Given the description of an element on the screen output the (x, y) to click on. 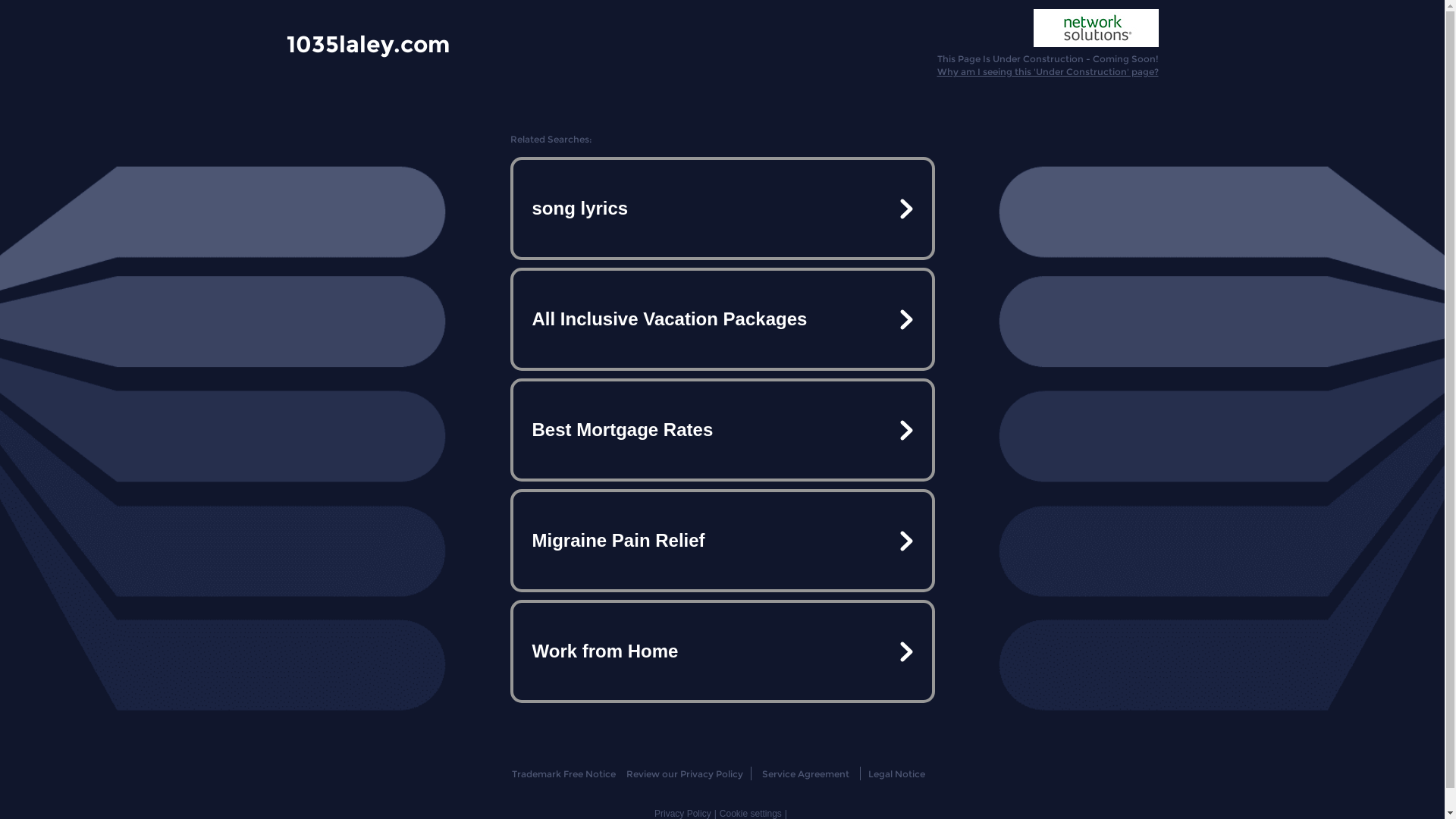
1035laley.com Element type: text (367, 43)
song lyrics Element type: text (721, 208)
Work from Home Element type: text (721, 650)
Migraine Pain Relief Element type: text (721, 540)
Why am I seeing this 'Under Construction' page? Element type: text (1047, 71)
All Inclusive Vacation Packages Element type: text (721, 318)
Trademark Free Notice Element type: text (563, 773)
Best Mortgage Rates Element type: text (721, 429)
Service Agreement Element type: text (805, 773)
Review our Privacy Policy Element type: text (684, 773)
Legal Notice Element type: text (896, 773)
